Given the description of an element on the screen output the (x, y) to click on. 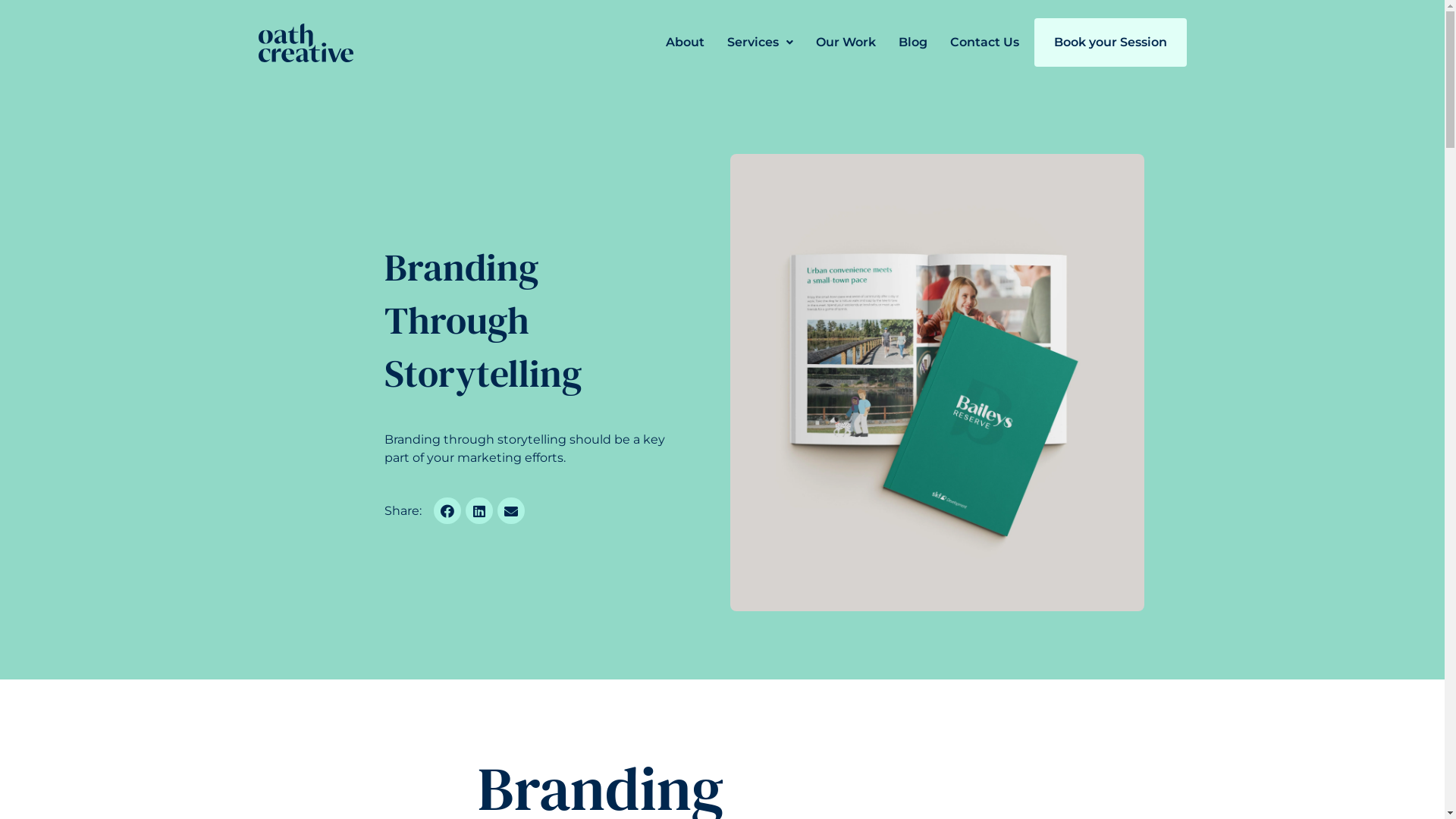
Blog Element type: text (911, 42)
Book your Session Element type: text (1110, 42)
Contact Us Element type: text (983, 42)
About Element type: text (684, 42)
Our Work Element type: text (845, 42)
Services Element type: text (759, 42)
